Given the description of an element on the screen output the (x, y) to click on. 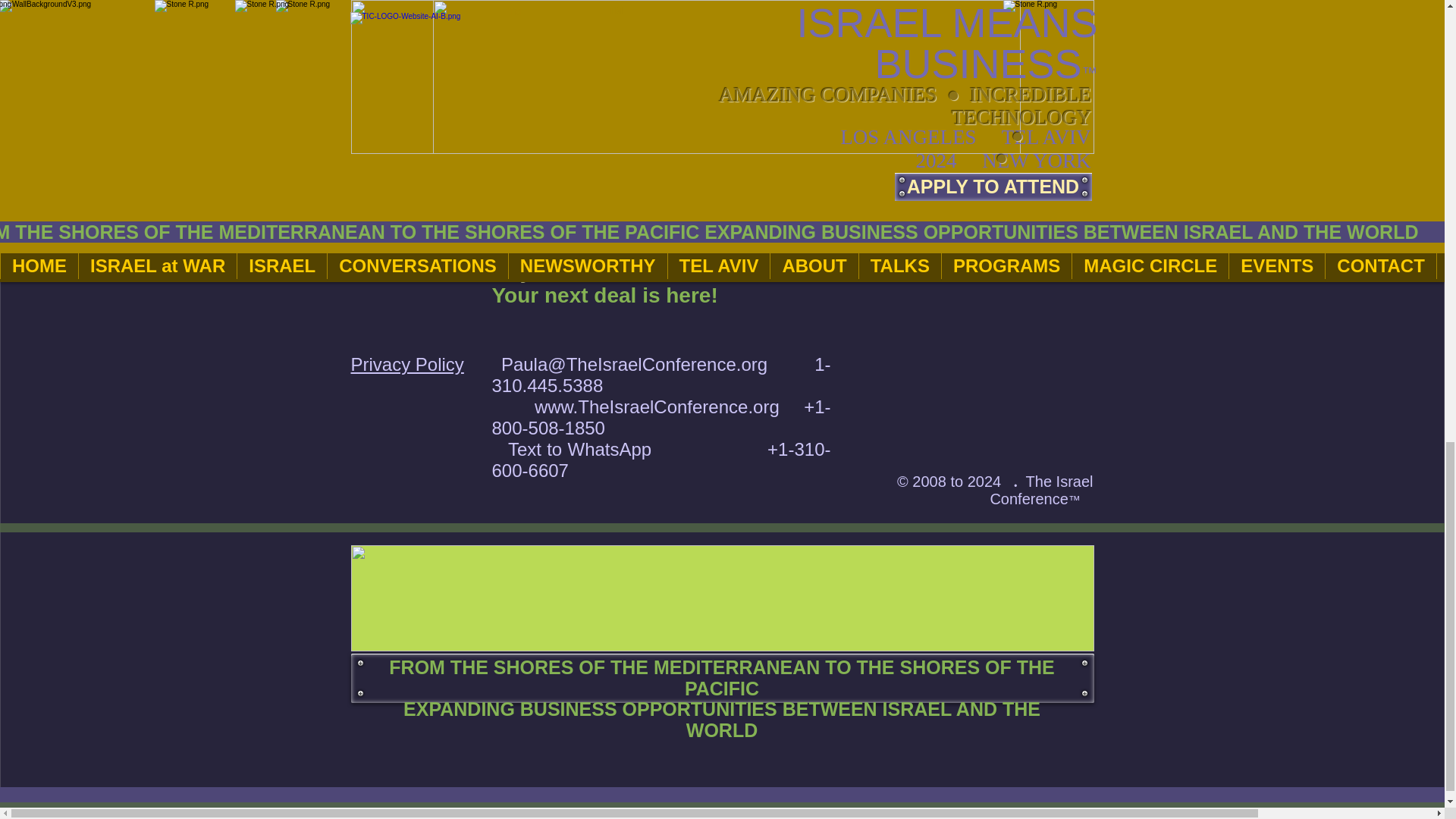
Send (974, 73)
Privacy Policy (406, 363)
www.TheIsraelConference.org (656, 406)
